Given the description of an element on the screen output the (x, y) to click on. 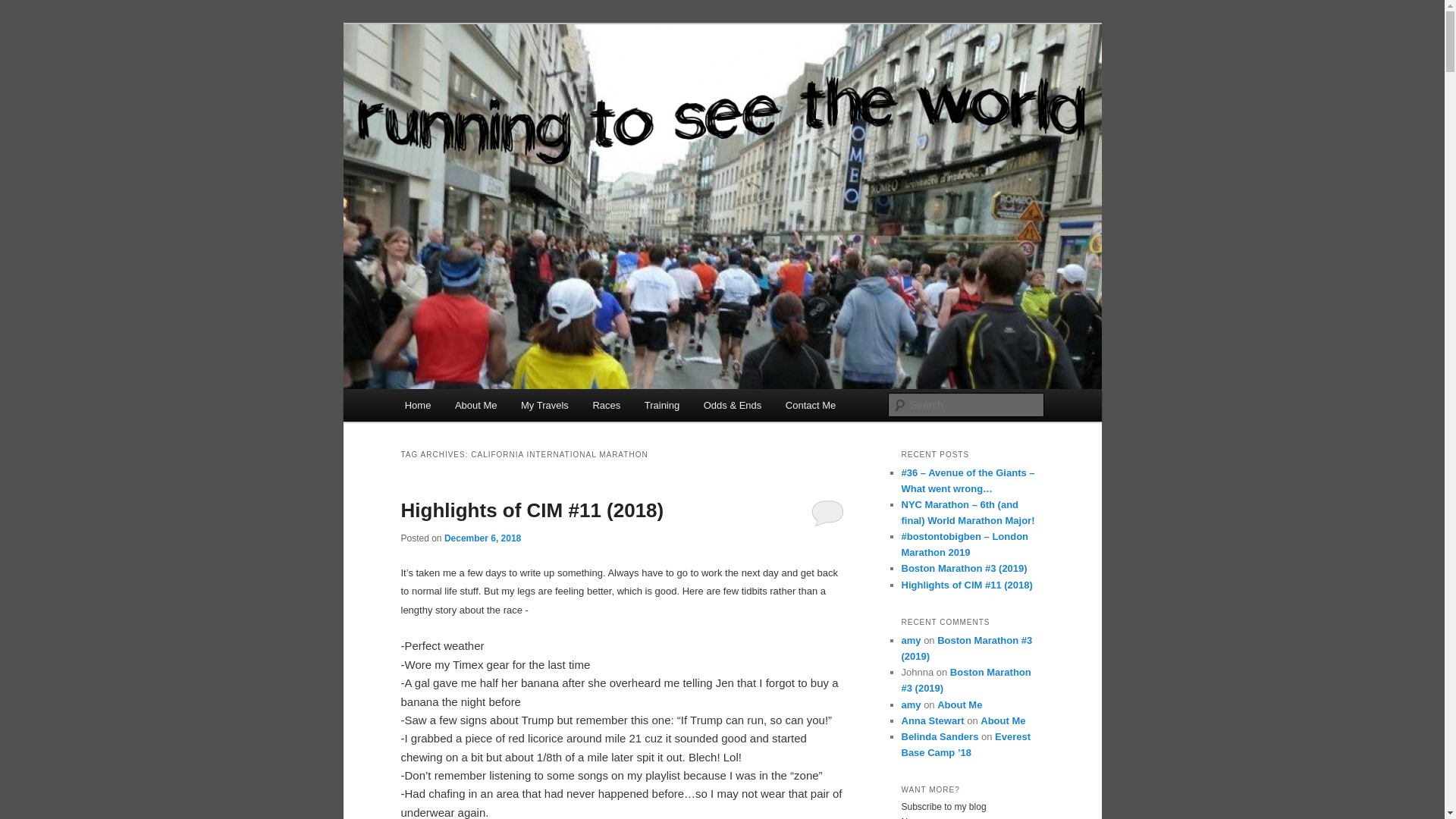
Training (661, 405)
Races (605, 405)
Skip to primary content (472, 407)
About Me (475, 405)
My Travels (543, 405)
Home (417, 405)
Contact Me (810, 405)
Skip to secondary content (479, 407)
December 6, 2018 (482, 537)
Skip to primary content (472, 407)
Skip to secondary content (479, 407)
Home (417, 405)
5:25 pm (482, 537)
Search (24, 8)
